Given the description of an element on the screen output the (x, y) to click on. 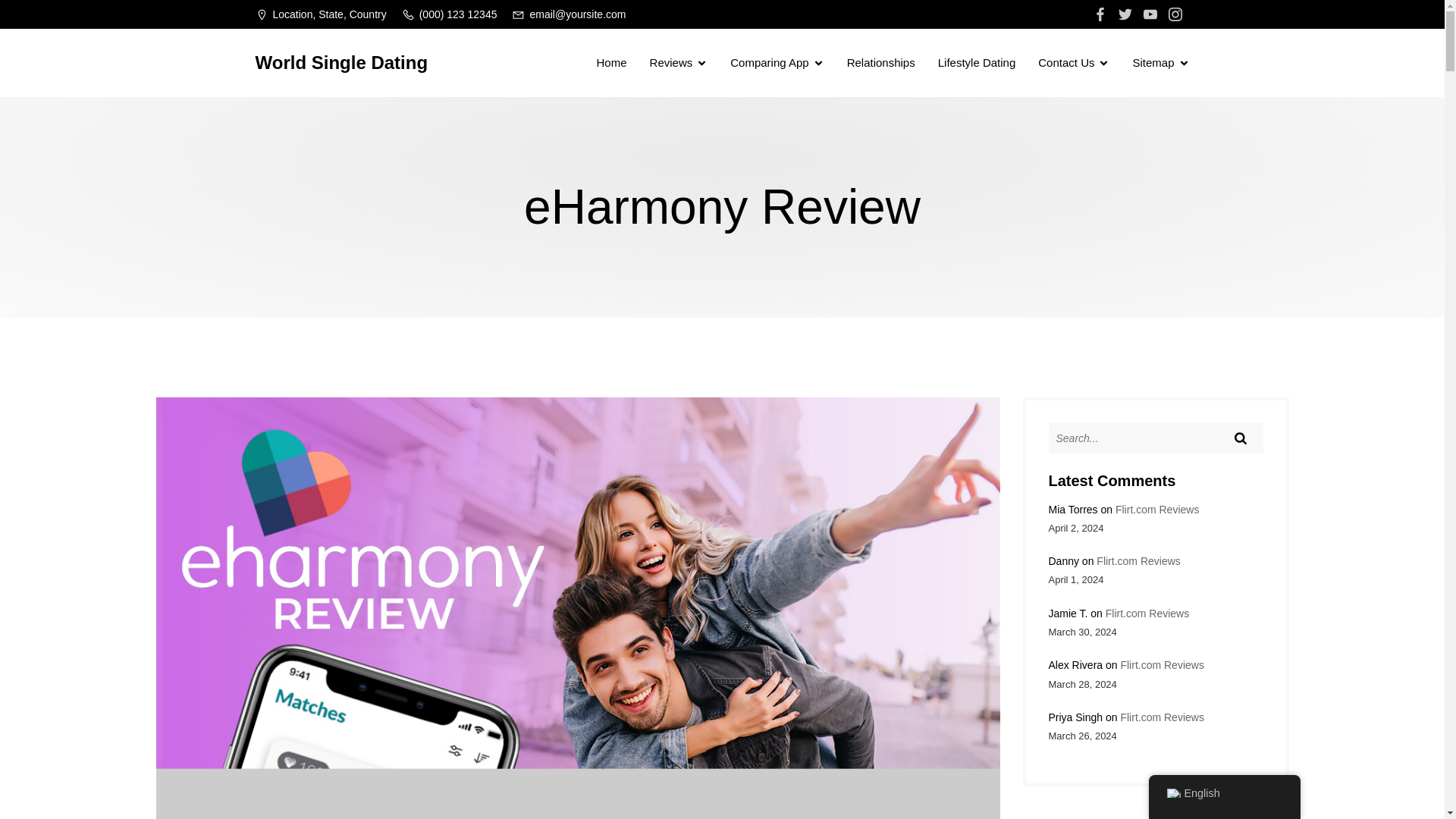
Relationships (881, 62)
Comparing App (777, 62)
World Single Dating (341, 62)
Reviews (678, 62)
Lifestyle Dating (976, 62)
Home (611, 62)
Sitemap (1160, 62)
Contact Us (1073, 62)
